Given the description of an element on the screen output the (x, y) to click on. 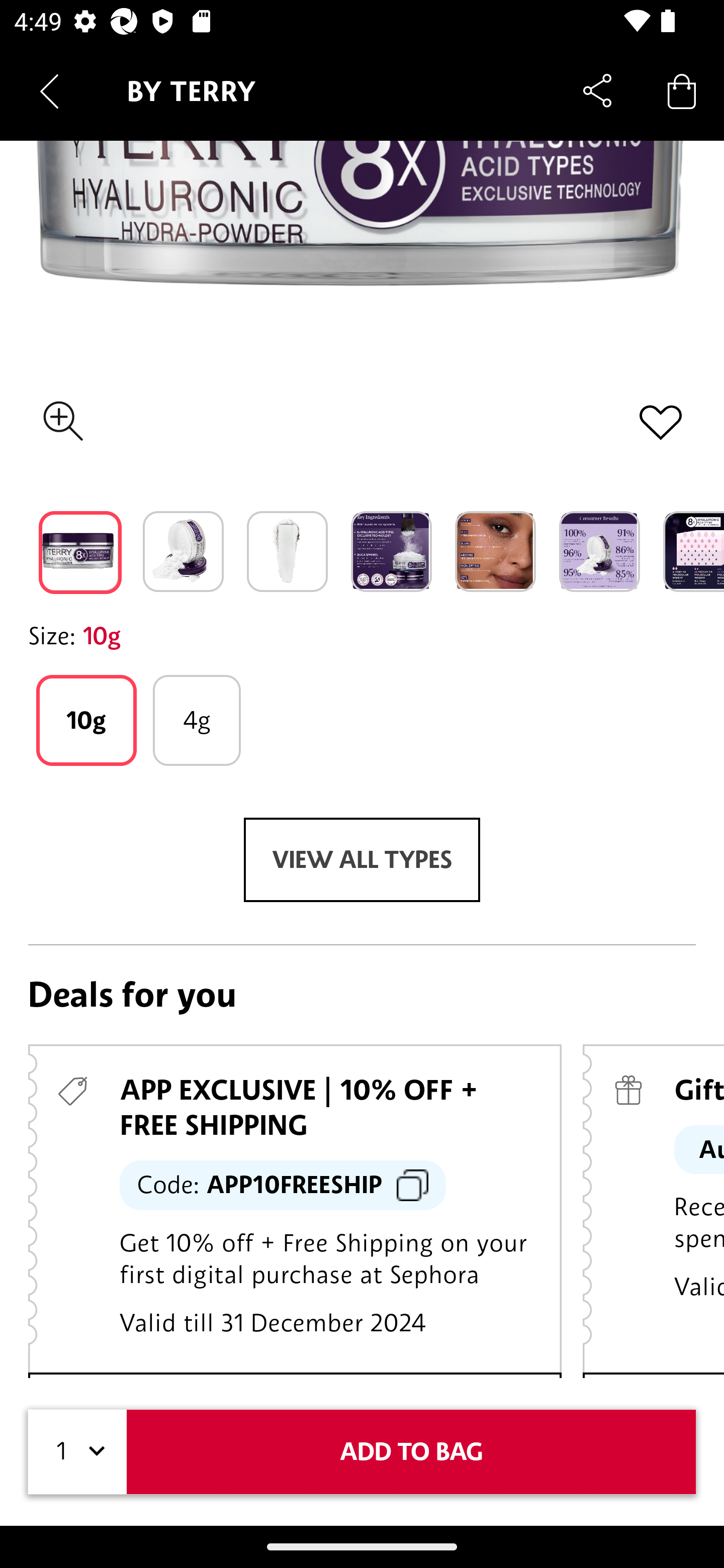
Navigate up (49, 91)
Share (597, 90)
Bag (681, 90)
10g (86, 719)
4g (196, 719)
VIEW ALL TYPES (361, 858)
1 (77, 1451)
ADD TO BAG (410, 1451)
